Given the description of an element on the screen output the (x, y) to click on. 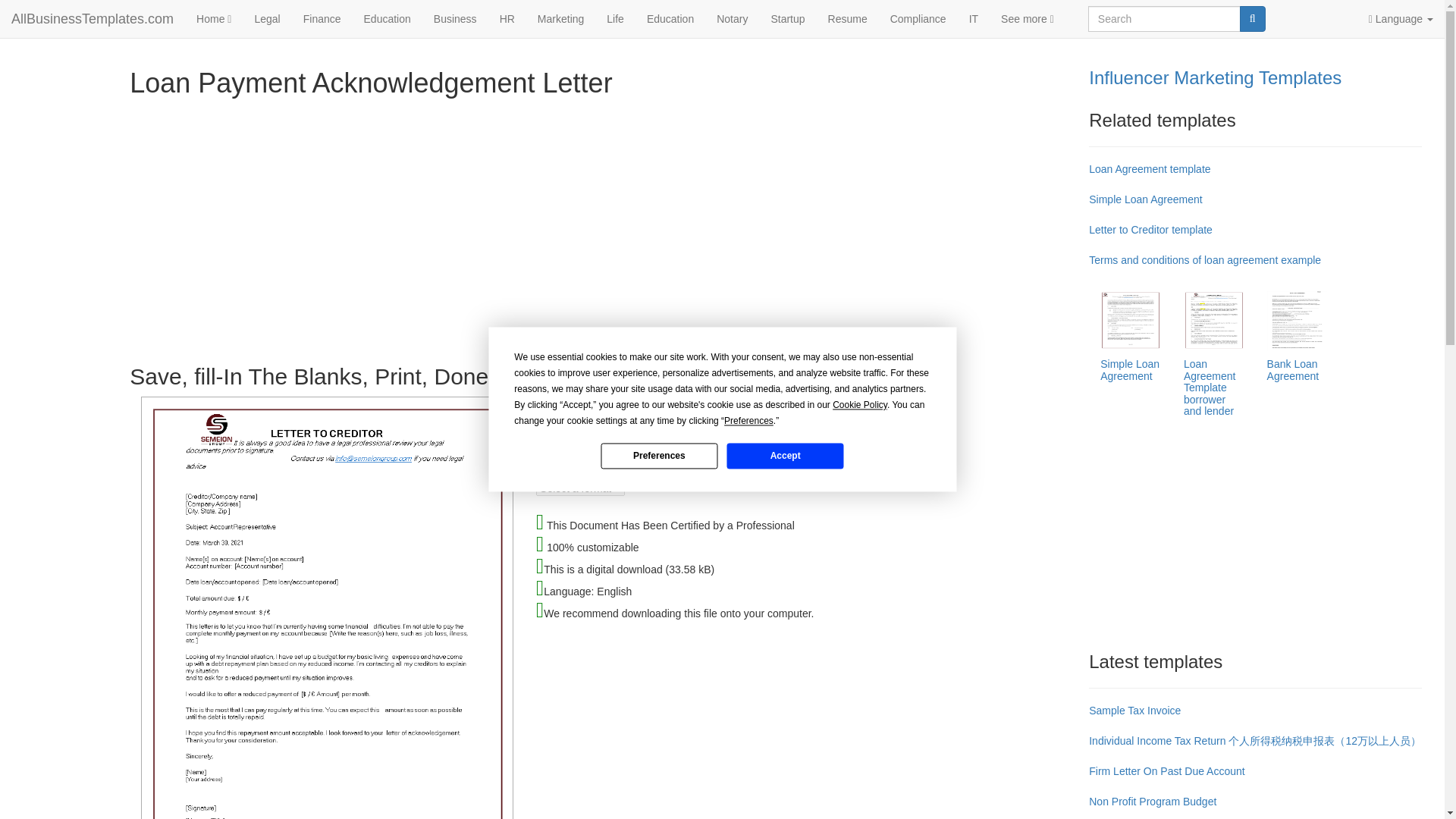
All business templates, forms and contracts related to HR (506, 18)
Life (614, 18)
Finance (322, 18)
Home (213, 18)
AllBusinessTemplates.com (92, 18)
Overview of all business templates (1027, 18)
Preferences (658, 455)
Resume (847, 18)
Accept (784, 455)
All business templates, forms and contracts related to Life (614, 18)
All business templates, forms and contracts related to Legal (267, 18)
